Given the description of an element on the screen output the (x, y) to click on. 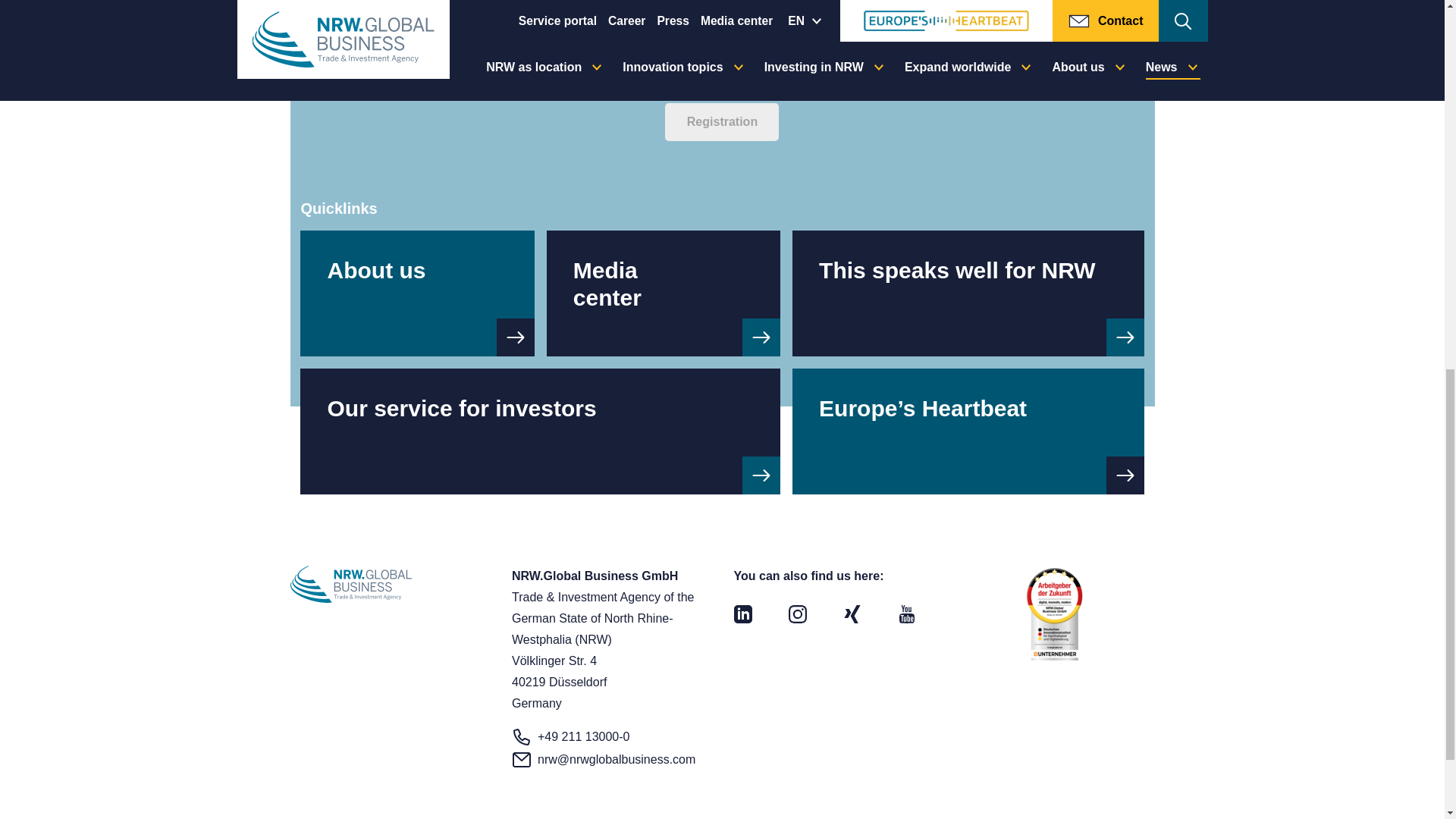
Instagram (797, 613)
LinkedIn (742, 613)
Xing (852, 613)
YouTube (906, 613)
